Given the description of an element on the screen output the (x, y) to click on. 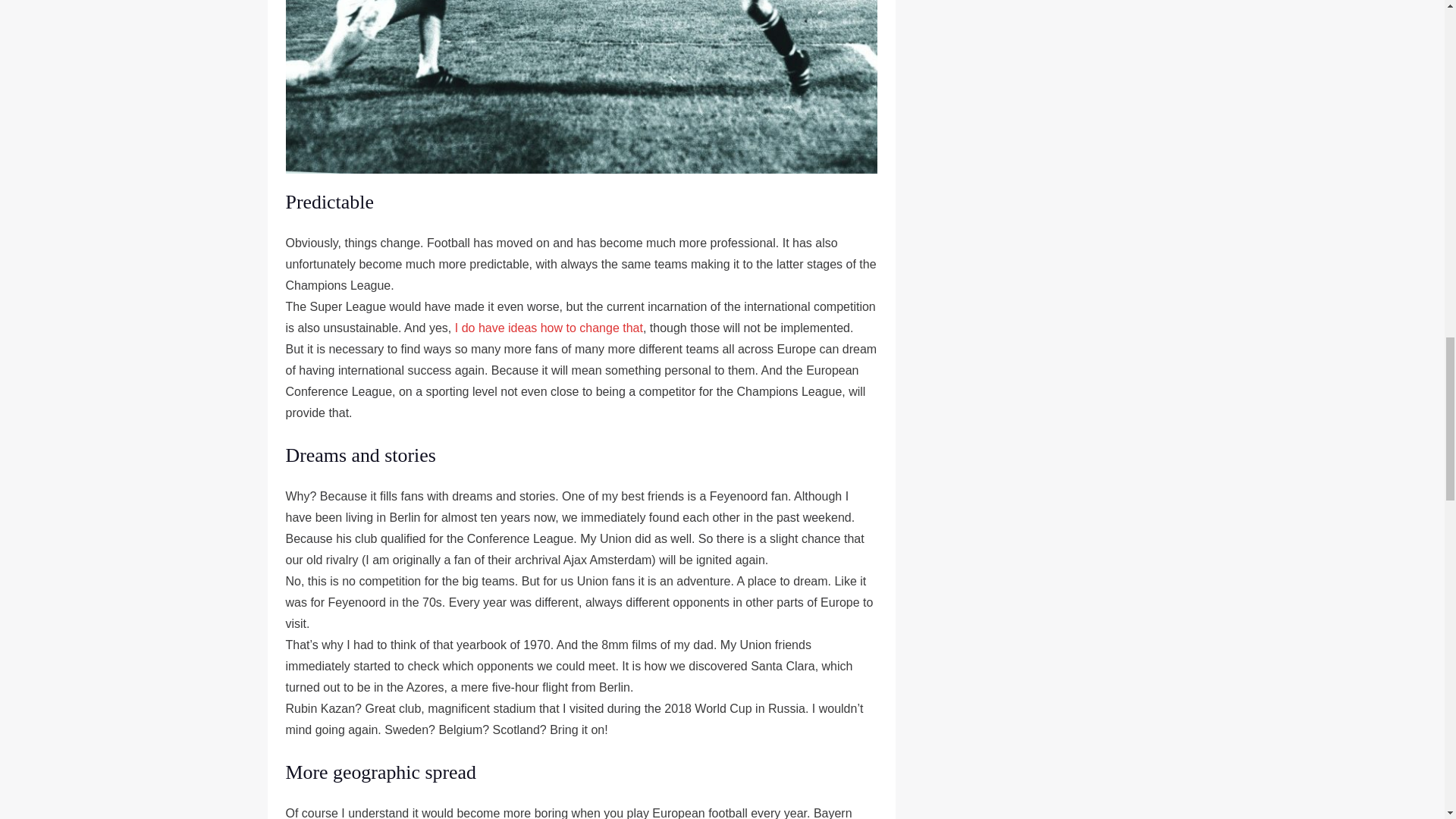
I do have ideas how to change that (548, 327)
